Given the description of an element on the screen output the (x, y) to click on. 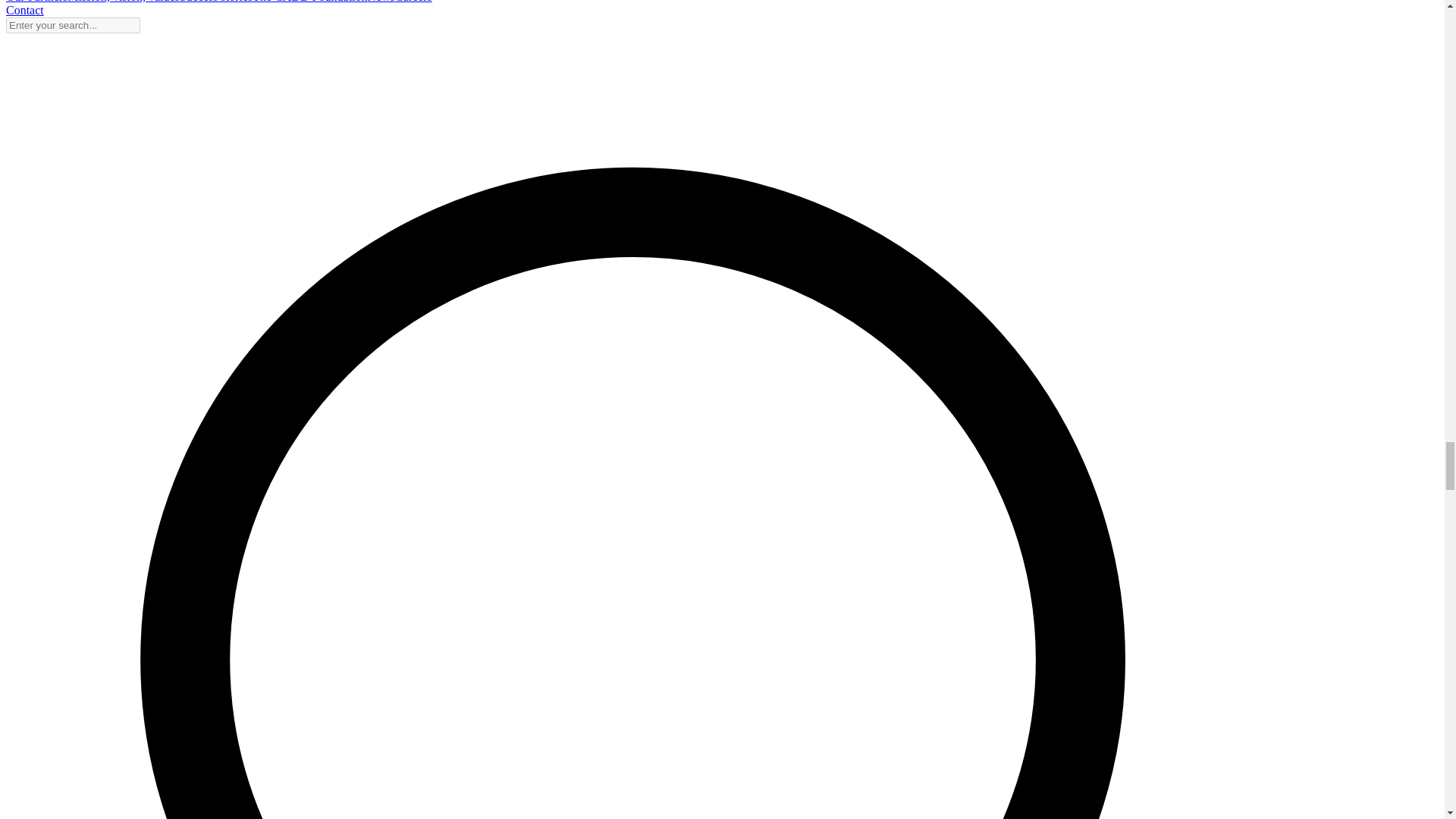
News (380, 1)
Careers (413, 1)
Our Partners (35, 1)
Mission, vision, values (122, 1)
The CADD Foundation (308, 1)
Success stories (215, 1)
